Given the description of an element on the screen output the (x, y) to click on. 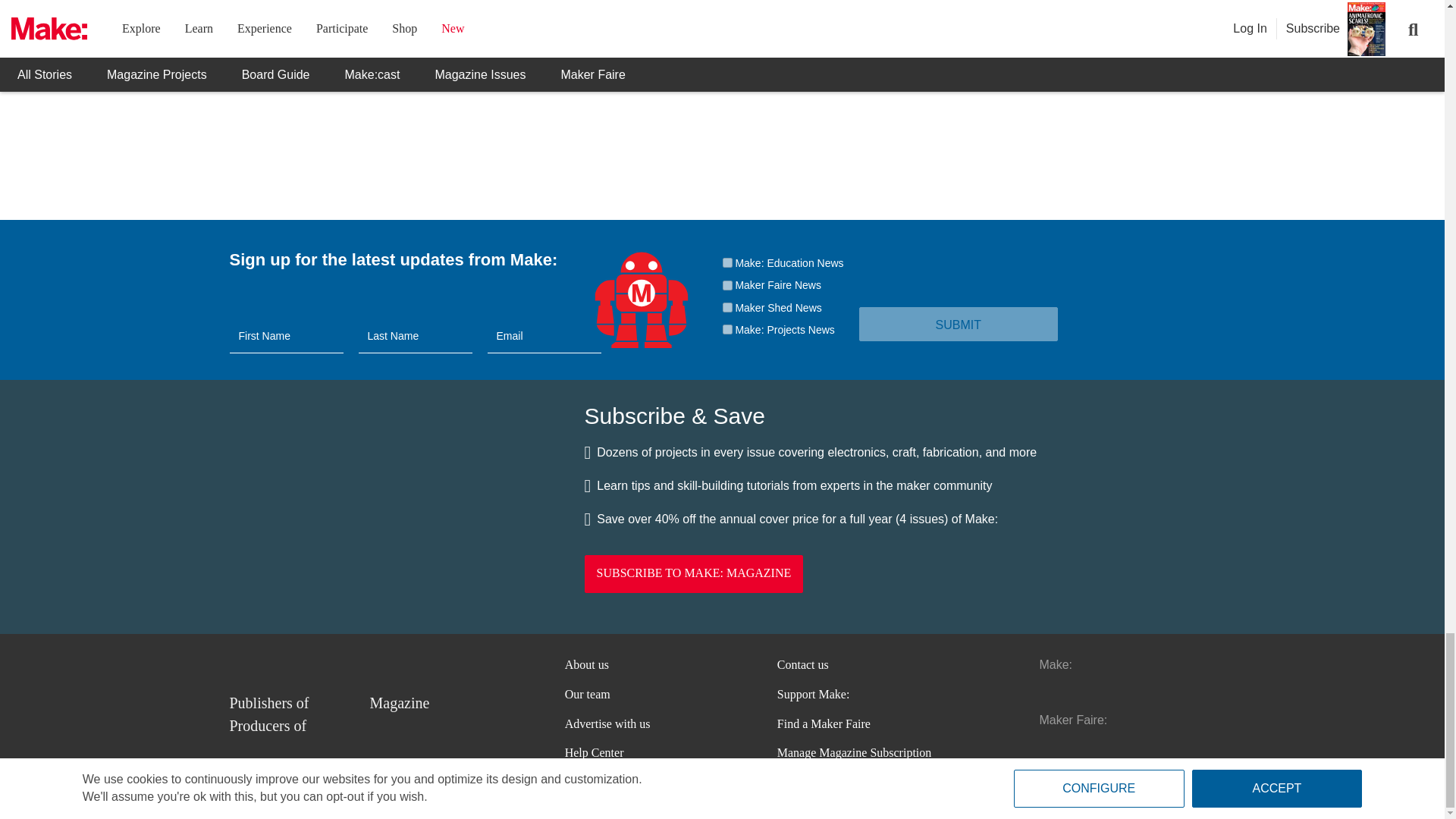
Make: Projects News (727, 329)
Maker Shed News (727, 307)
Maker Faire News (727, 285)
Make: Education News (727, 262)
